Given the description of an element on the screen output the (x, y) to click on. 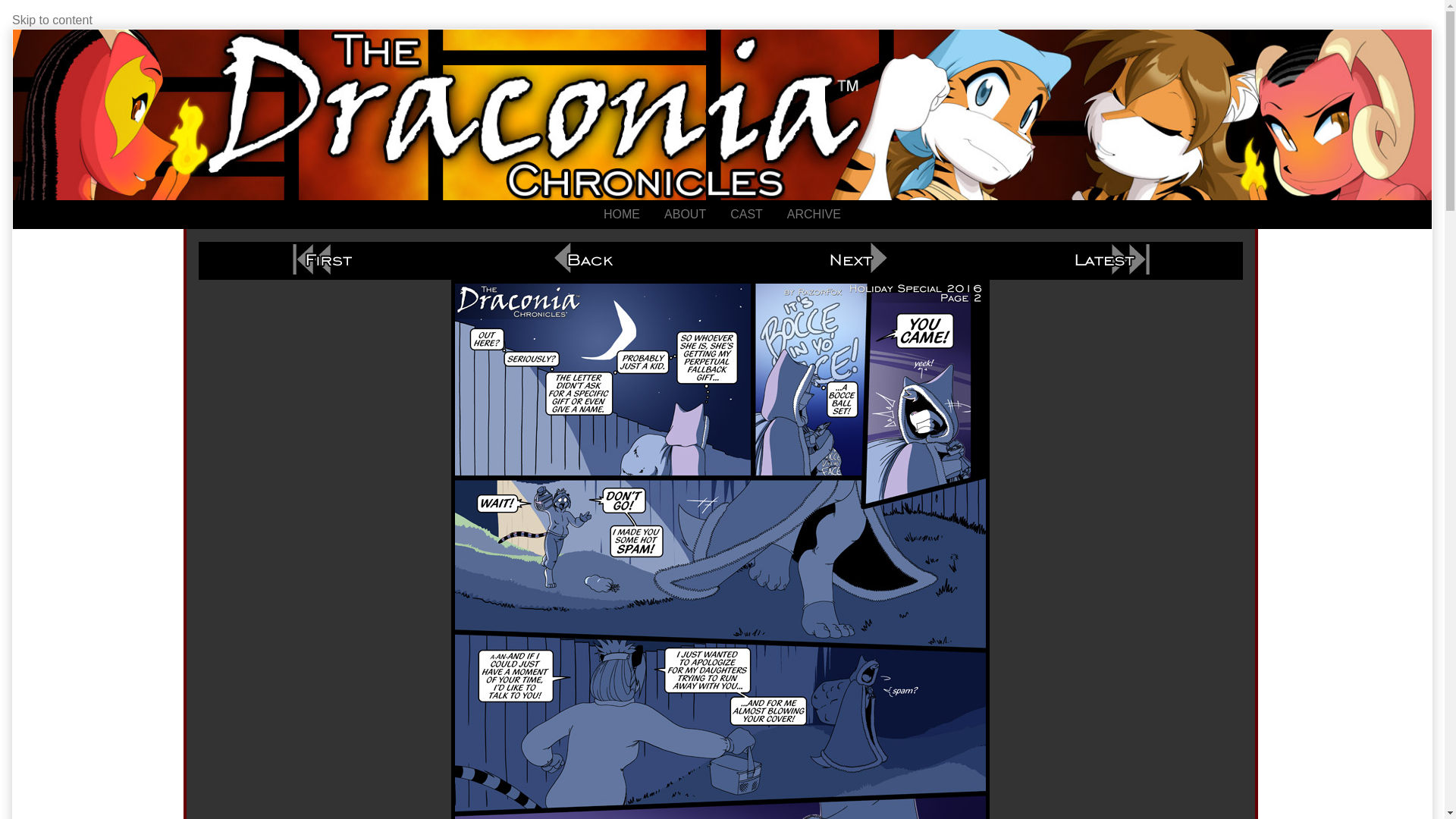
CAST (745, 214)
HOME (621, 214)
ARCHIVE (813, 214)
Skip to content (52, 19)
ABOUT (684, 214)
